Given the description of an element on the screen output the (x, y) to click on. 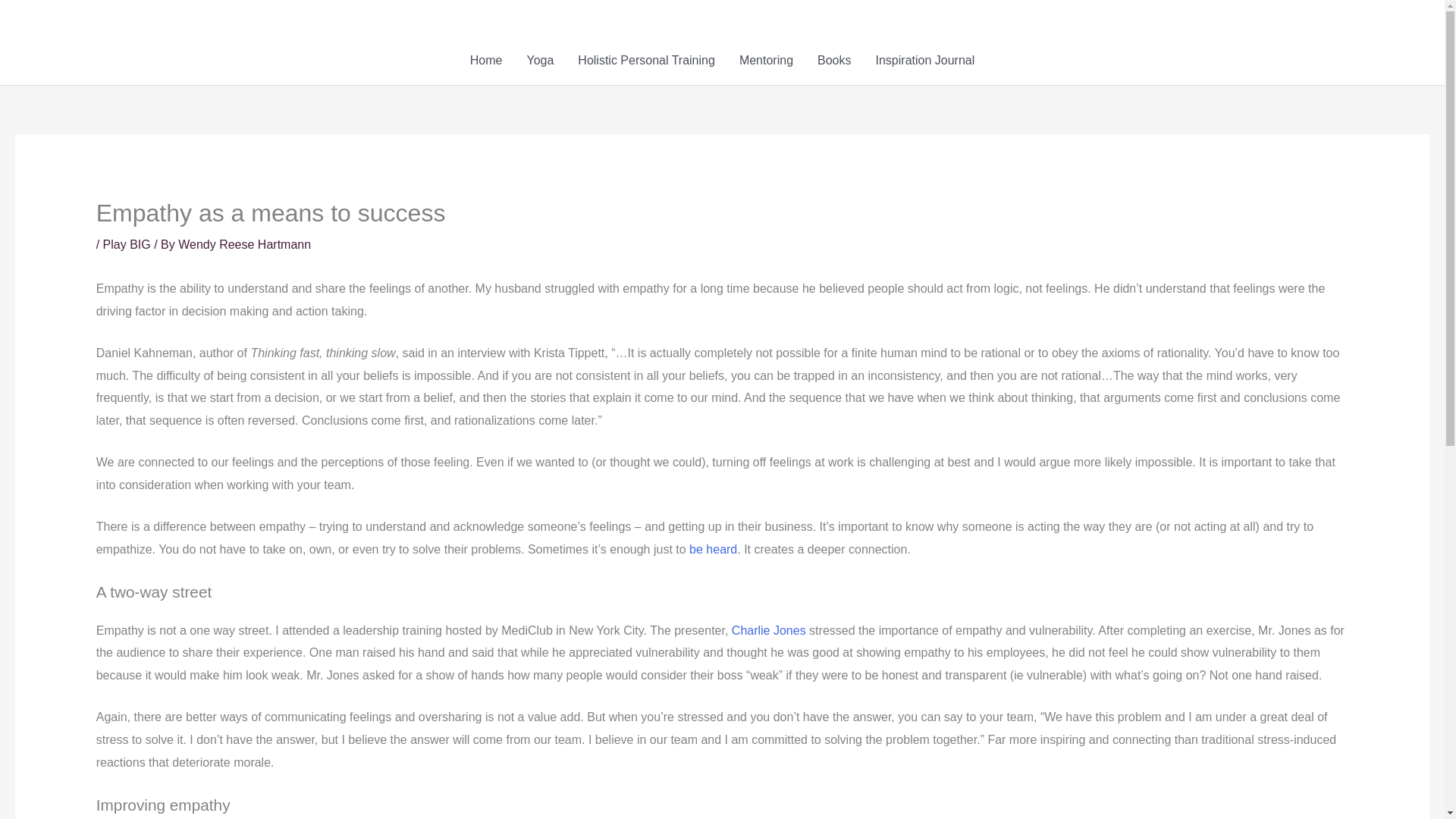
Play BIG (127, 244)
Home (486, 60)
View all posts by Wendy Reese Hartmann (244, 244)
Yoga (539, 60)
Books (834, 60)
Holistic Personal Training (646, 60)
Mentoring (765, 60)
Inspiration Journal (925, 60)
be heard (712, 549)
Wendy Reese Hartmann (244, 244)
Charlie Jones (769, 630)
